Given the description of an element on the screen output the (x, y) to click on. 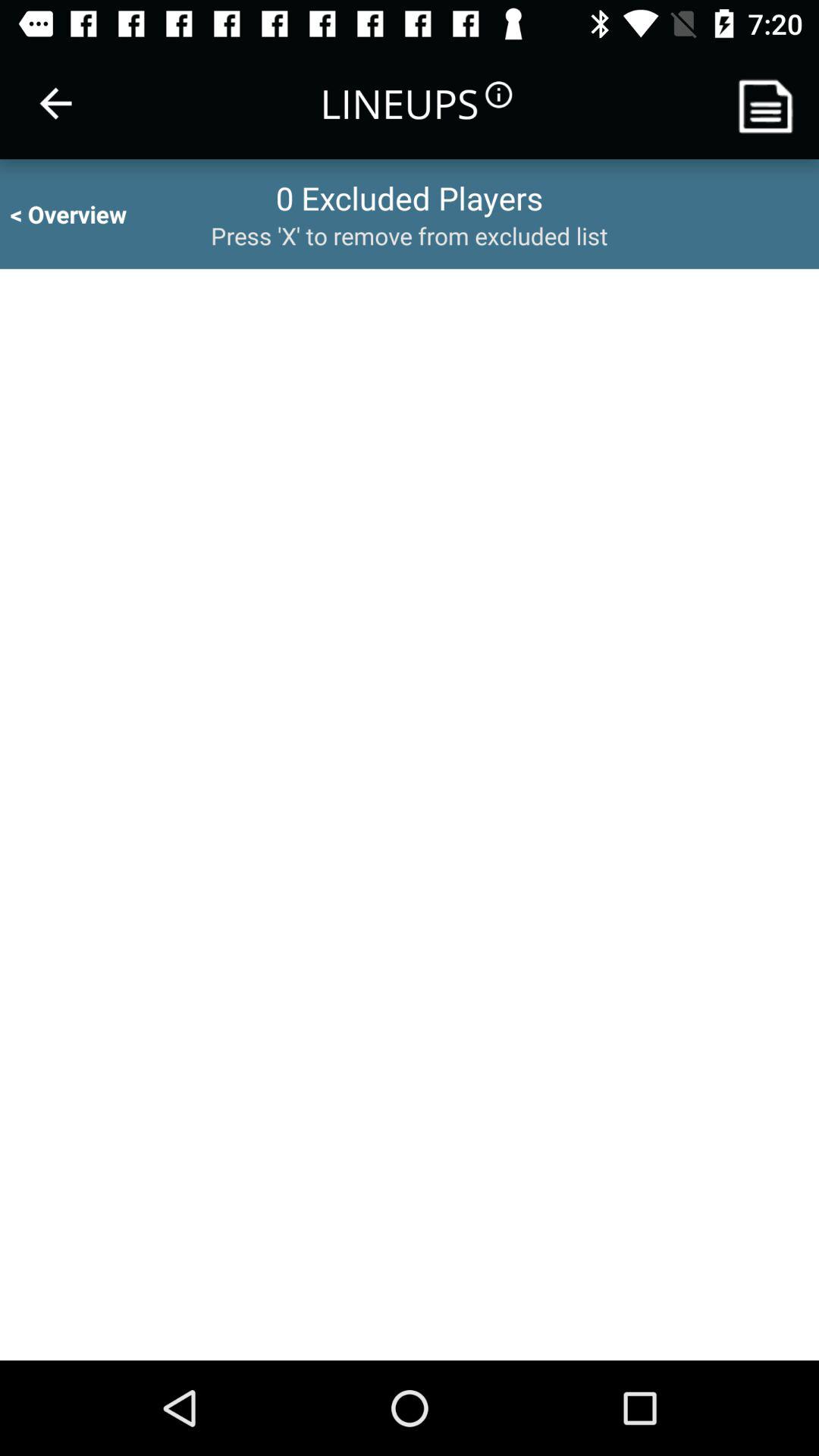
launch icon to the left of the 0 excluded players item (81, 214)
